Given the description of an element on the screen output the (x, y) to click on. 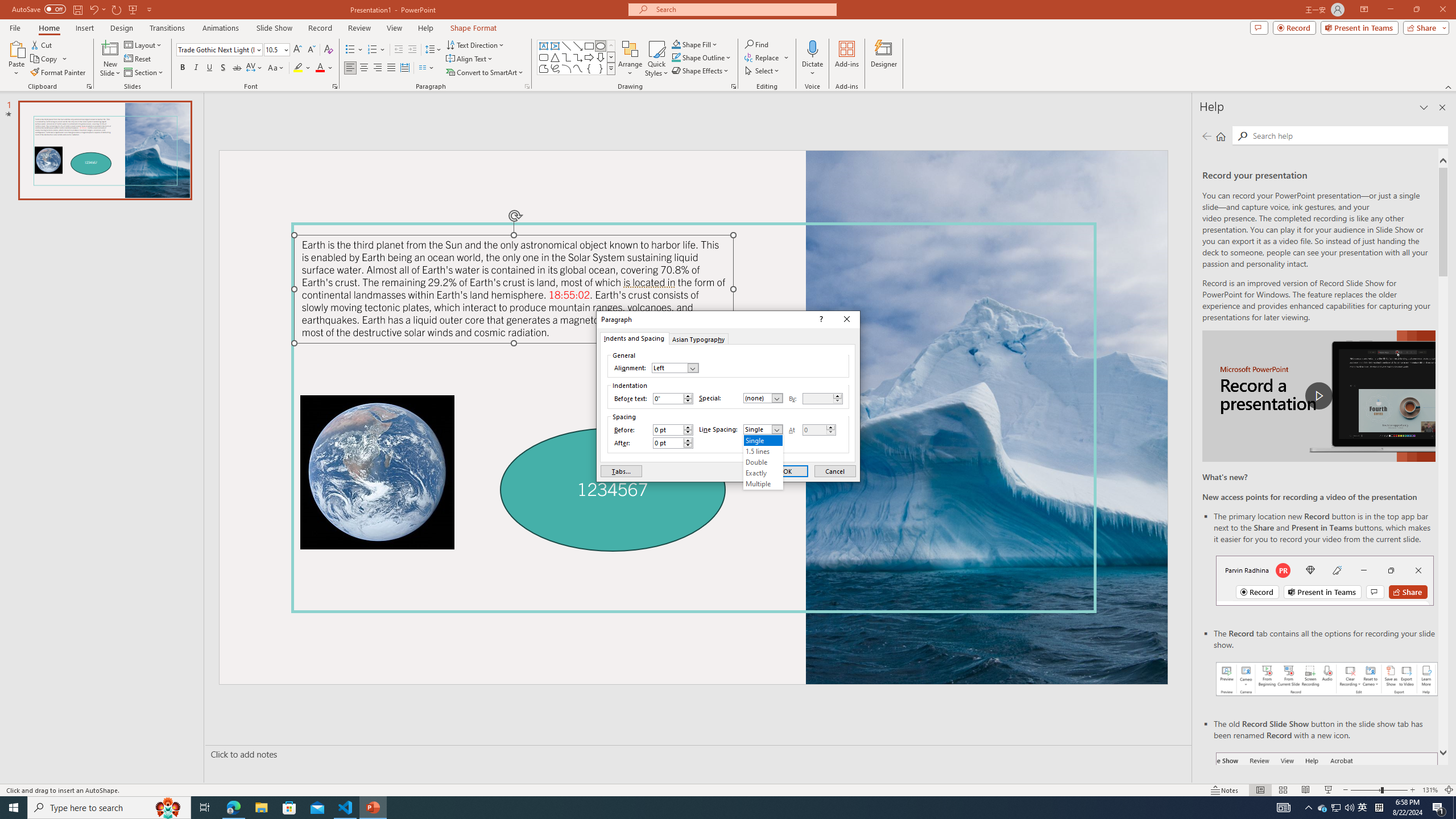
By (817, 398)
Special (763, 397)
Asian Typography (698, 337)
